Given the description of an element on the screen output the (x, y) to click on. 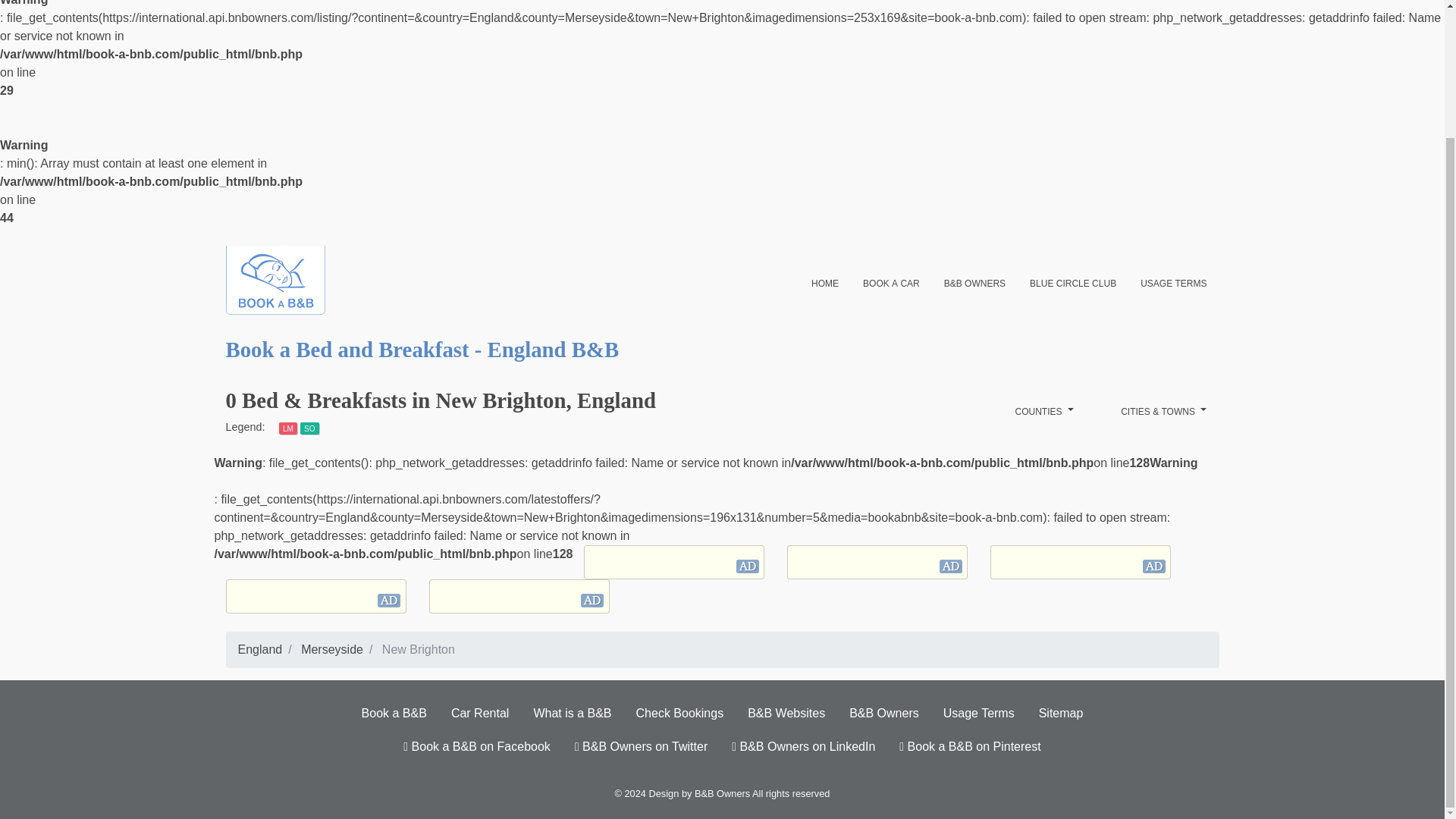
Sitemap (1061, 713)
Usage Terms (978, 713)
Check Bookings (680, 713)
All rights reserved (790, 793)
Car Rental (480, 713)
England (260, 649)
counties (1044, 410)
book a car (890, 282)
New Brighton (417, 649)
usage terms (1173, 282)
